Given the description of an element on the screen output the (x, y) to click on. 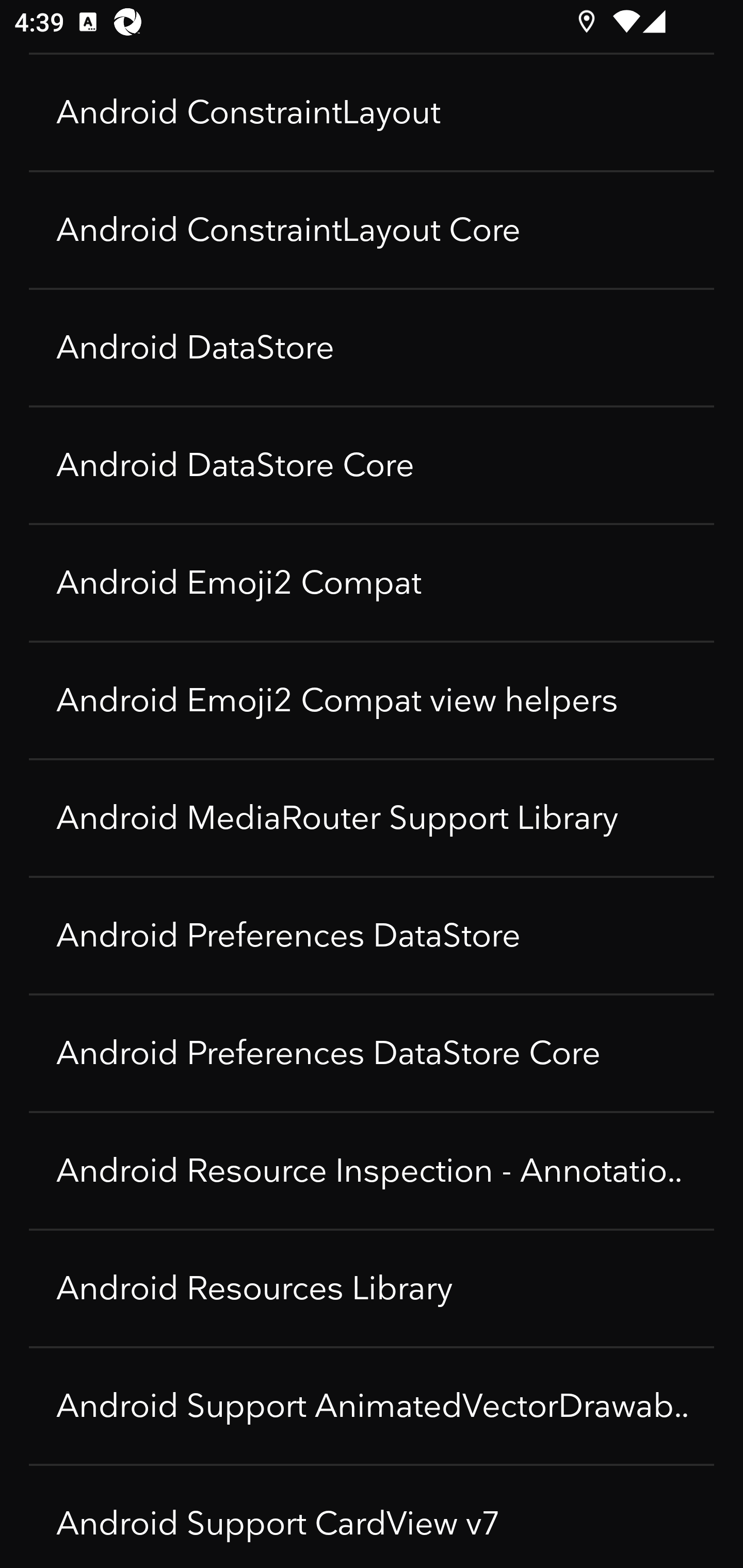
Android ConstraintLayout (371, 112)
Android ConstraintLayout Core (371, 230)
Android DataStore (371, 348)
Android DataStore Core (371, 465)
Android Emoji2 Compat (371, 583)
Android Emoji2 Compat view helpers (371, 700)
Android MediaRouter Support Library (371, 818)
Android Preferences DataStore (371, 936)
Android Preferences DataStore Core (371, 1053)
Android Resource Inspection - Annotations (371, 1171)
Android Resources Library (371, 1288)
Android Support AnimatedVectorDrawable (371, 1406)
Android Support CardView v7 (371, 1517)
